Given the description of an element on the screen output the (x, y) to click on. 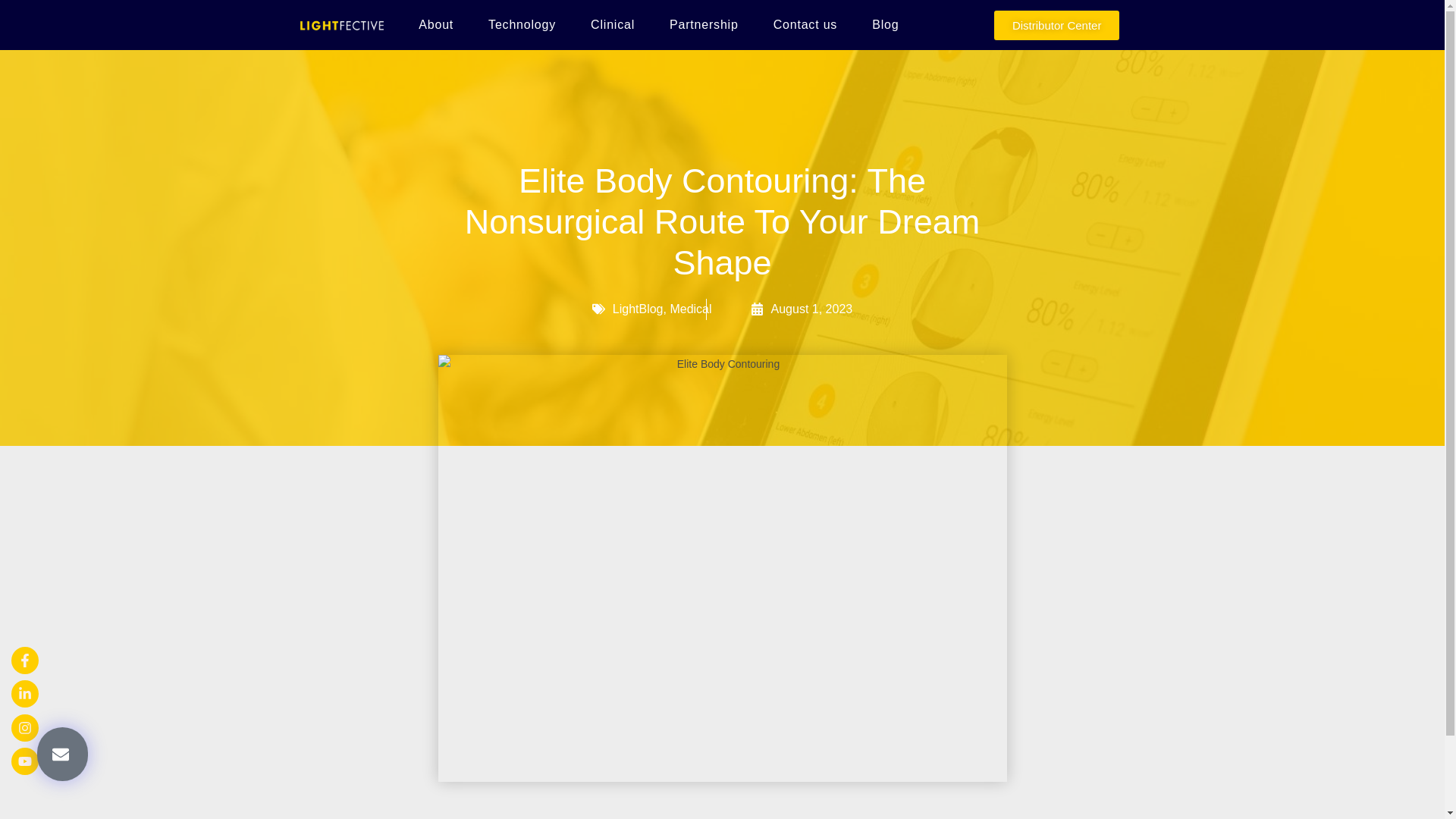
Blog (884, 24)
Partnership (703, 24)
Technology (521, 24)
About (435, 24)
Distributor Center (1056, 25)
Contact us (804, 24)
Clinical (612, 24)
